Given the description of an element on the screen output the (x, y) to click on. 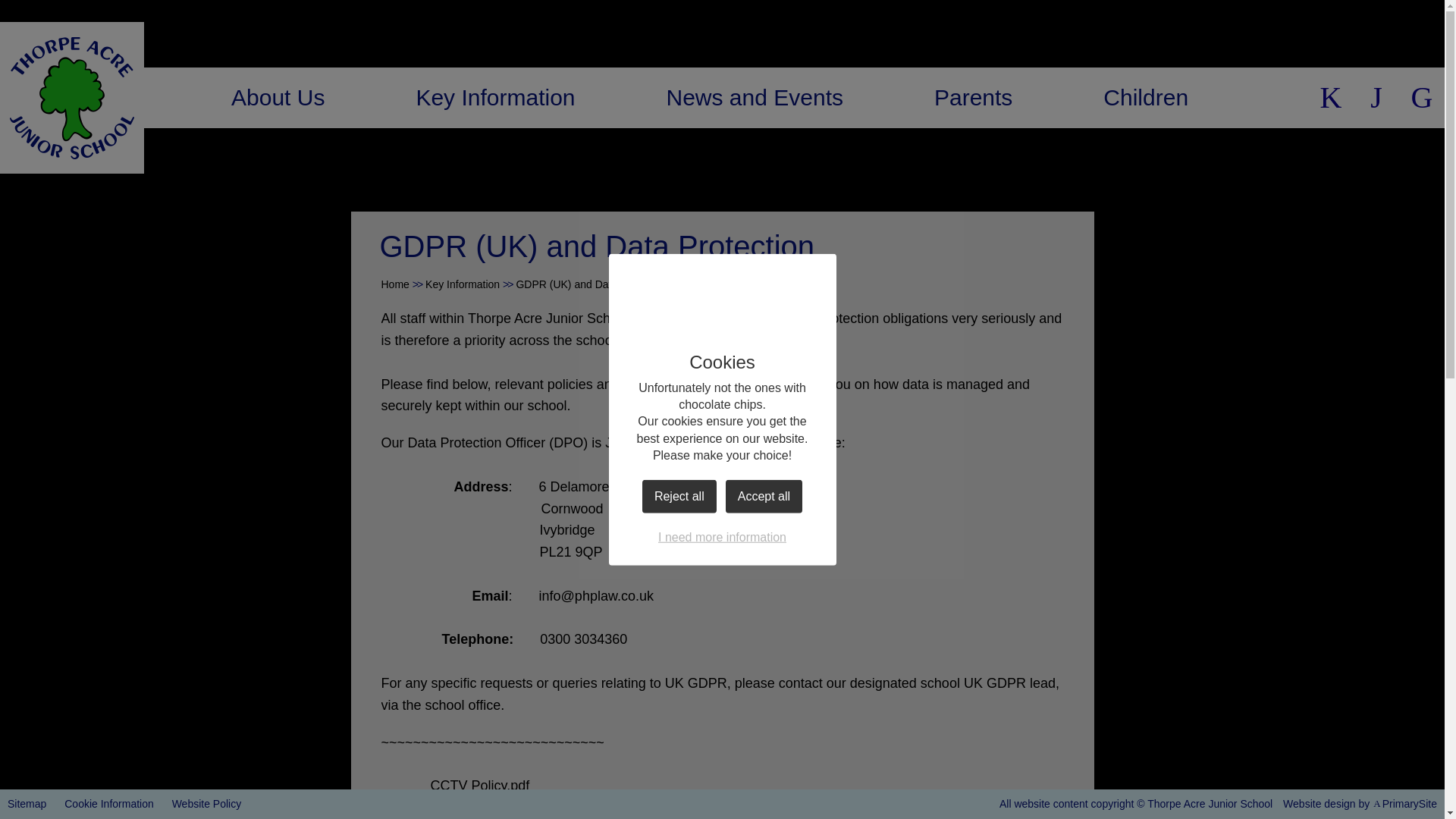
Key Information (494, 97)
Home Page (72, 97)
About Us (277, 97)
